Given the description of an element on the screen output the (x, y) to click on. 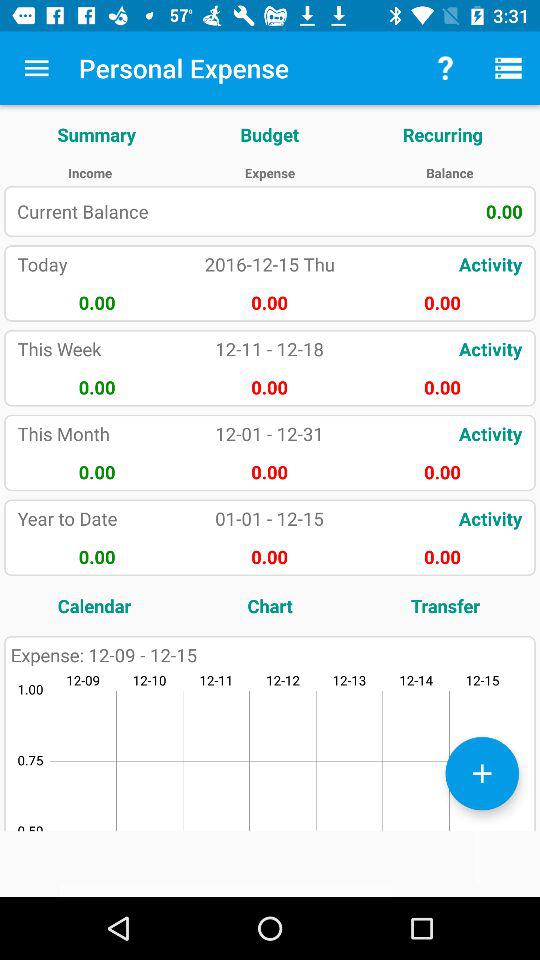
turn on item above the summary (36, 68)
